Given the description of an element on the screen output the (x, y) to click on. 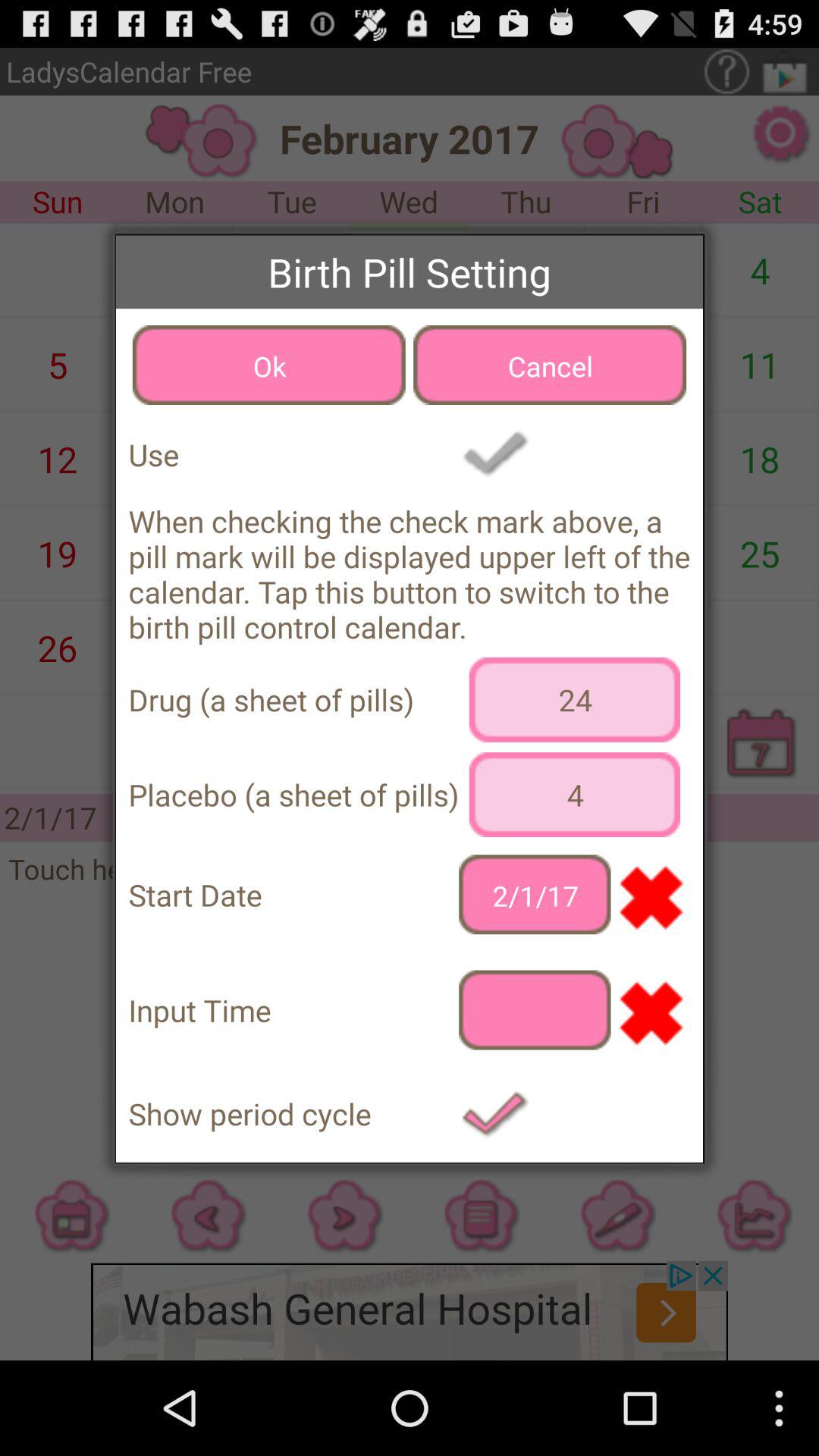
press item above input time app (534, 894)
